Given the description of an element on the screen output the (x, y) to click on. 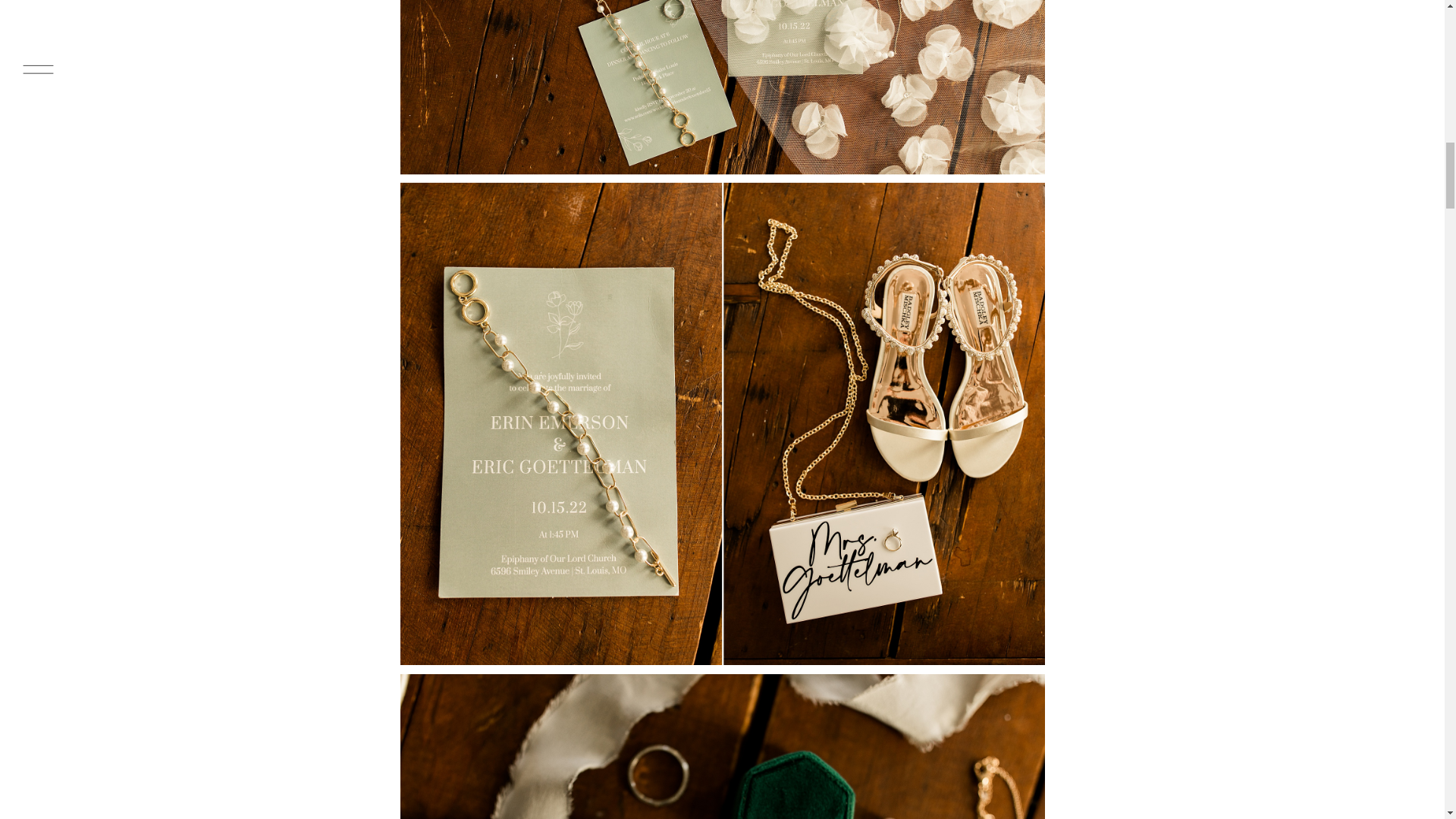
Palladium Wedding Photos (722, 746)
Palladium Wedding Photos (722, 87)
